Given the description of an element on the screen output the (x, y) to click on. 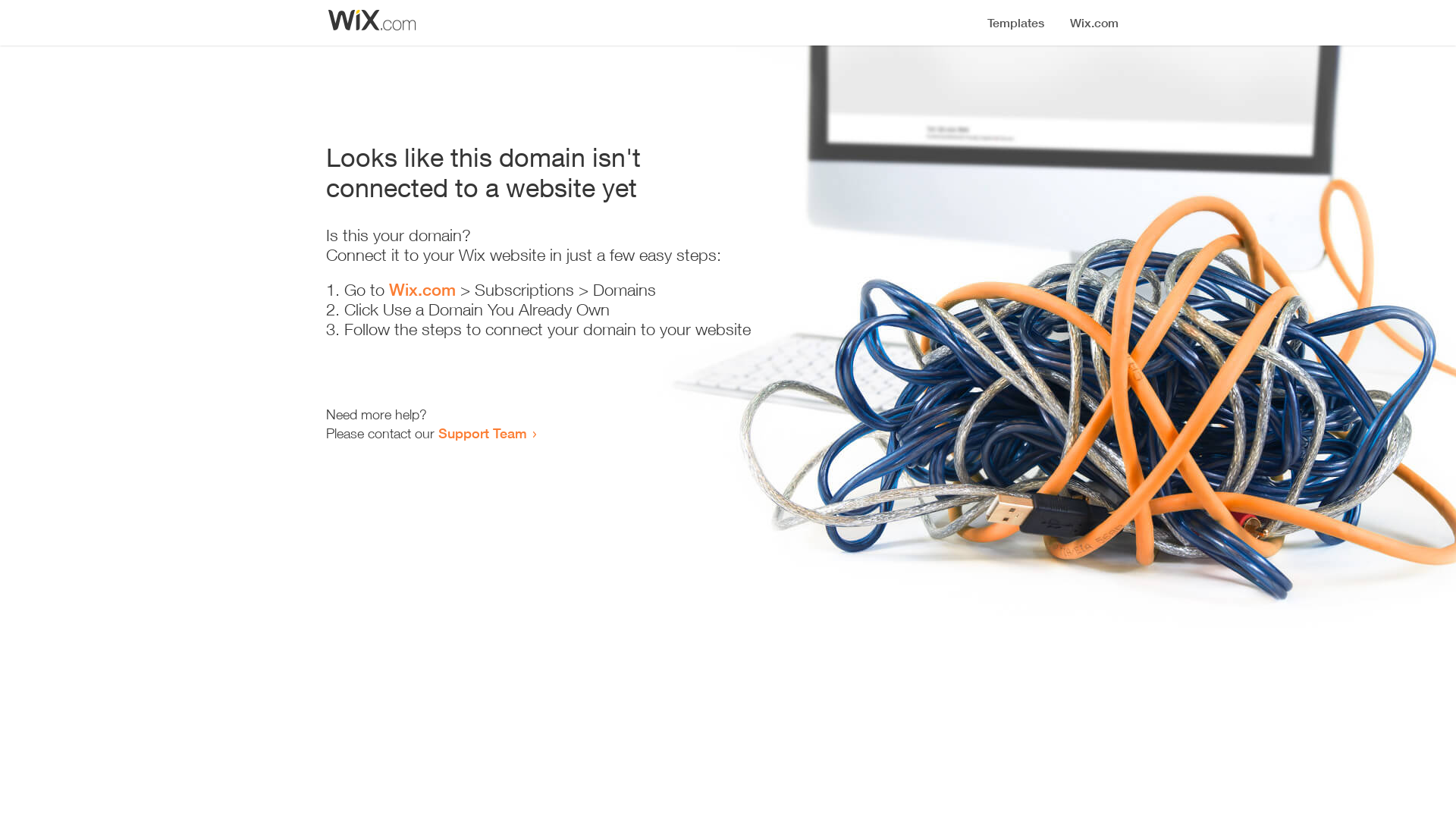
Support Team Element type: text (482, 432)
Wix.com Element type: text (422, 289)
